Given the description of an element on the screen output the (x, y) to click on. 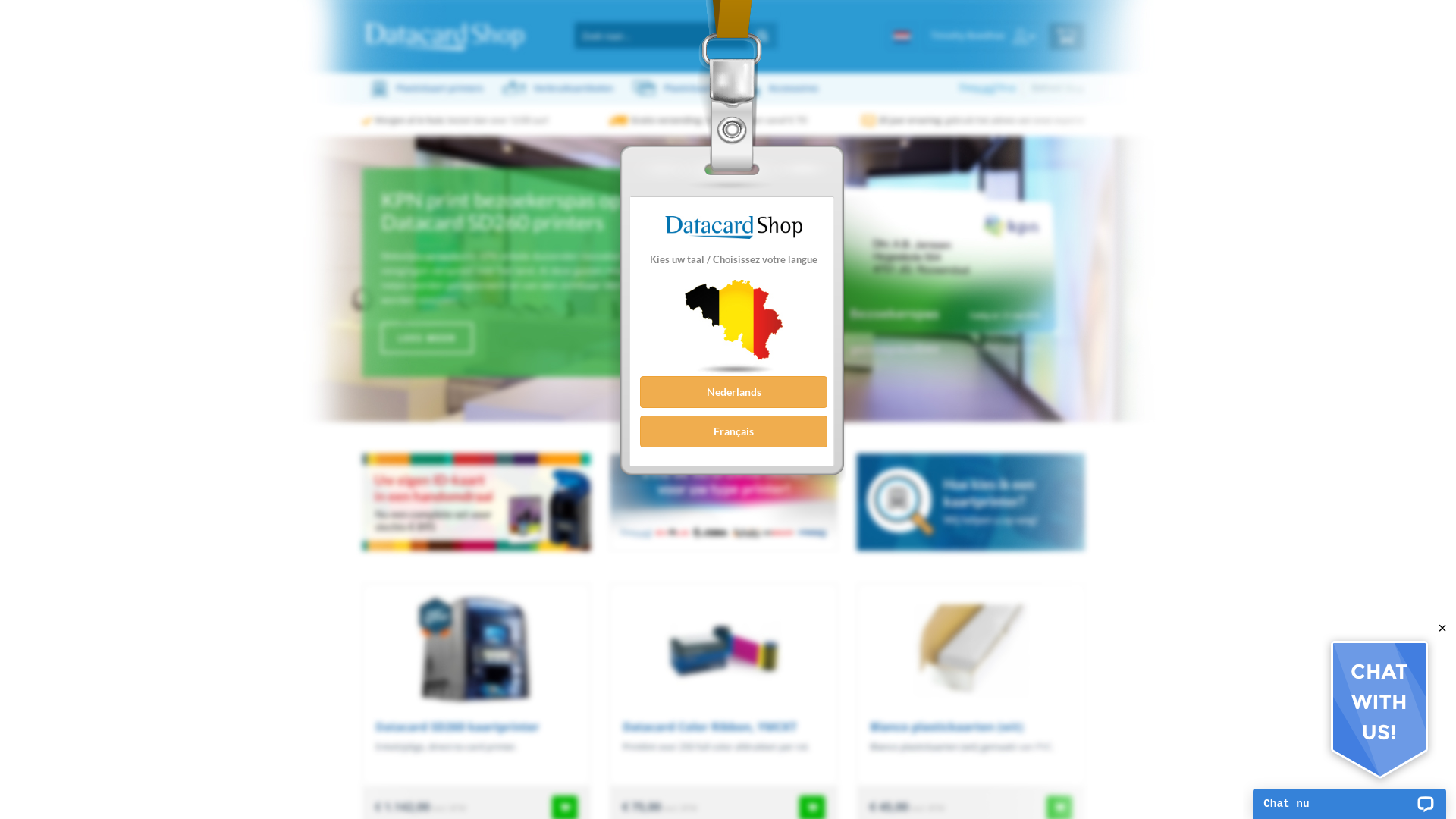
Nederlands Element type: text (733, 391)
